Given the description of an element on the screen output the (x, y) to click on. 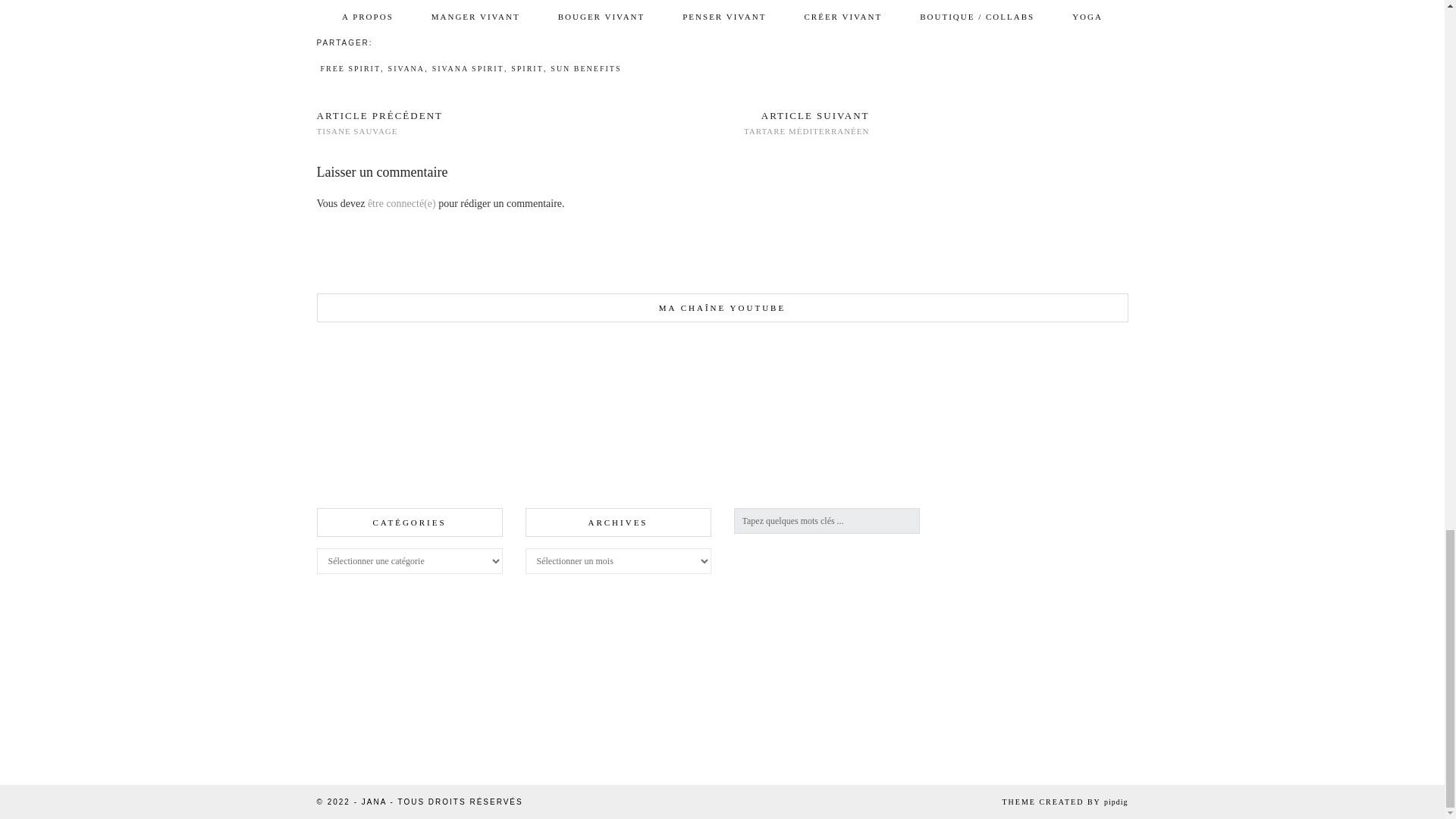
SIVANA (406, 68)
FREE SPIRIT (350, 68)
SUN BENEFITS (585, 68)
SPIRIT (527, 68)
SIVANA SPIRIT (467, 68)
